Given the description of an element on the screen output the (x, y) to click on. 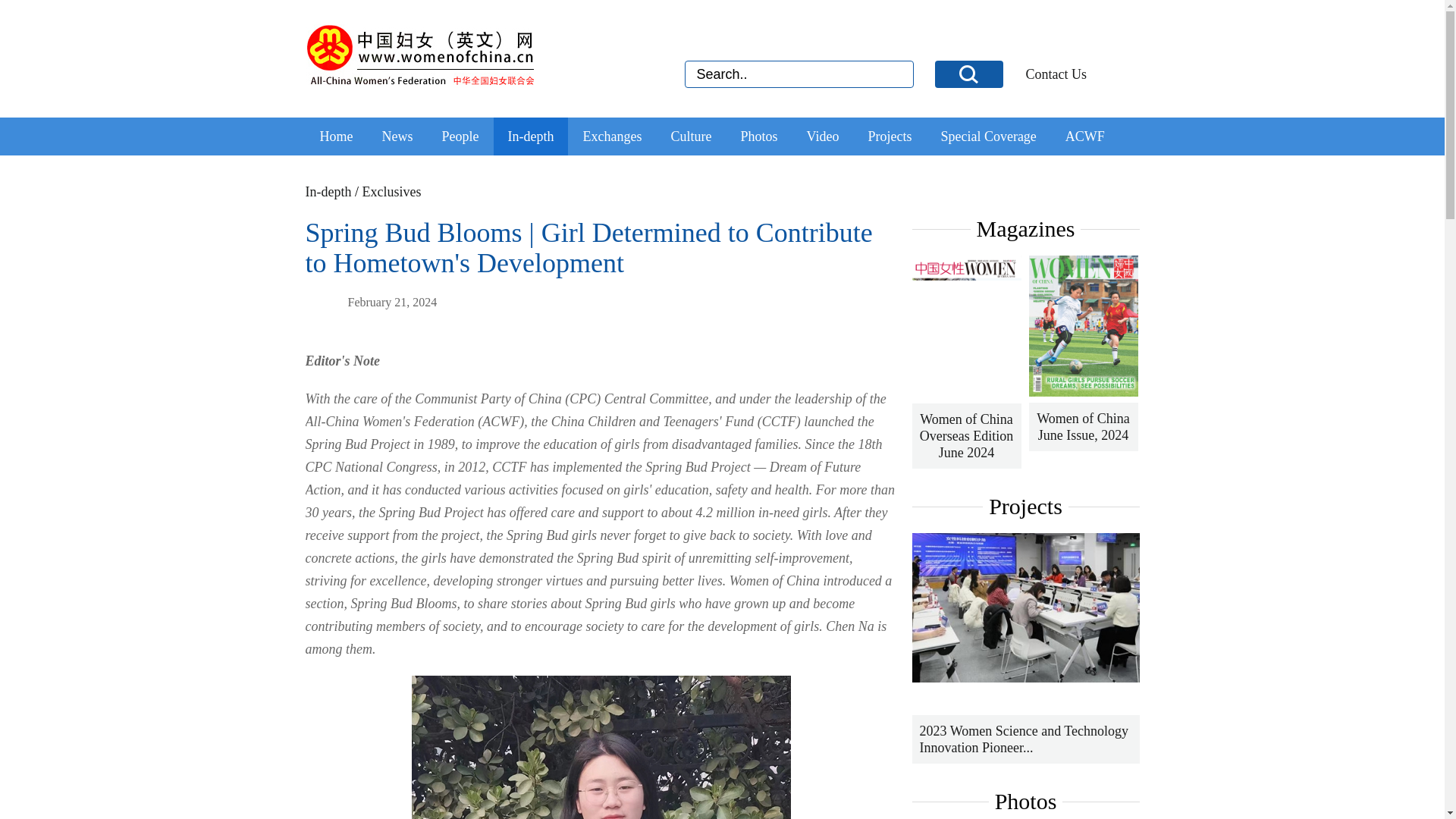
Special Coverage (987, 136)
Photos (758, 136)
In-depth (531, 136)
Projects (889, 136)
People (460, 136)
ACWF (1085, 136)
Special Coverage (987, 136)
Exclusives (392, 191)
Exchanges (612, 136)
News (397, 136)
Exchanges (612, 136)
In-depth (327, 191)
Home (336, 136)
Projects (889, 136)
Culture (690, 136)
